Given the description of an element on the screen output the (x, y) to click on. 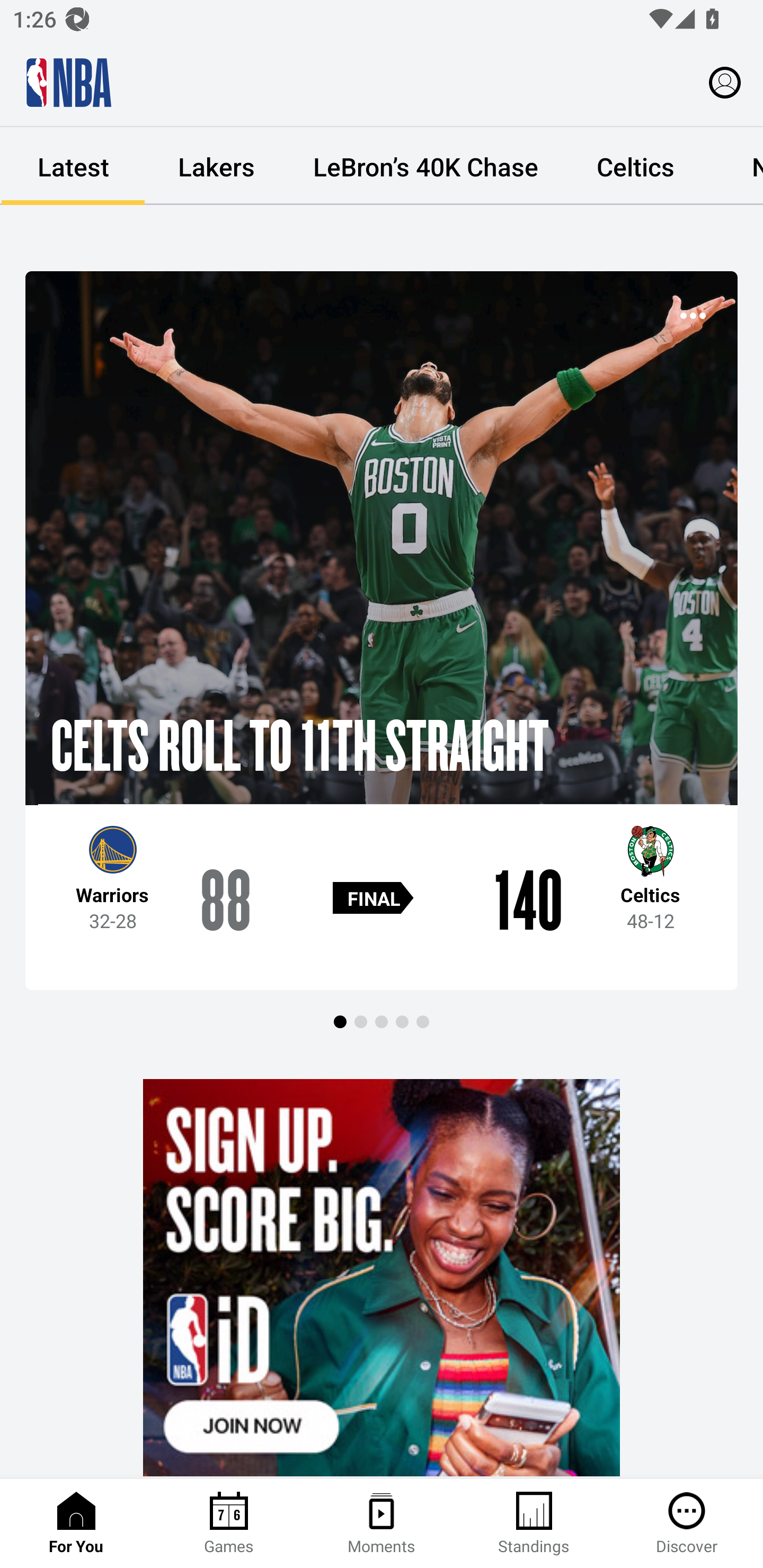
Profile (724, 81)
Lakers (215, 166)
LeBron’s 40K Chase (425, 166)
Celtics (634, 166)
Games (228, 1523)
Moments (381, 1523)
Standings (533, 1523)
Discover (686, 1523)
